Given the description of an element on the screen output the (x, y) to click on. 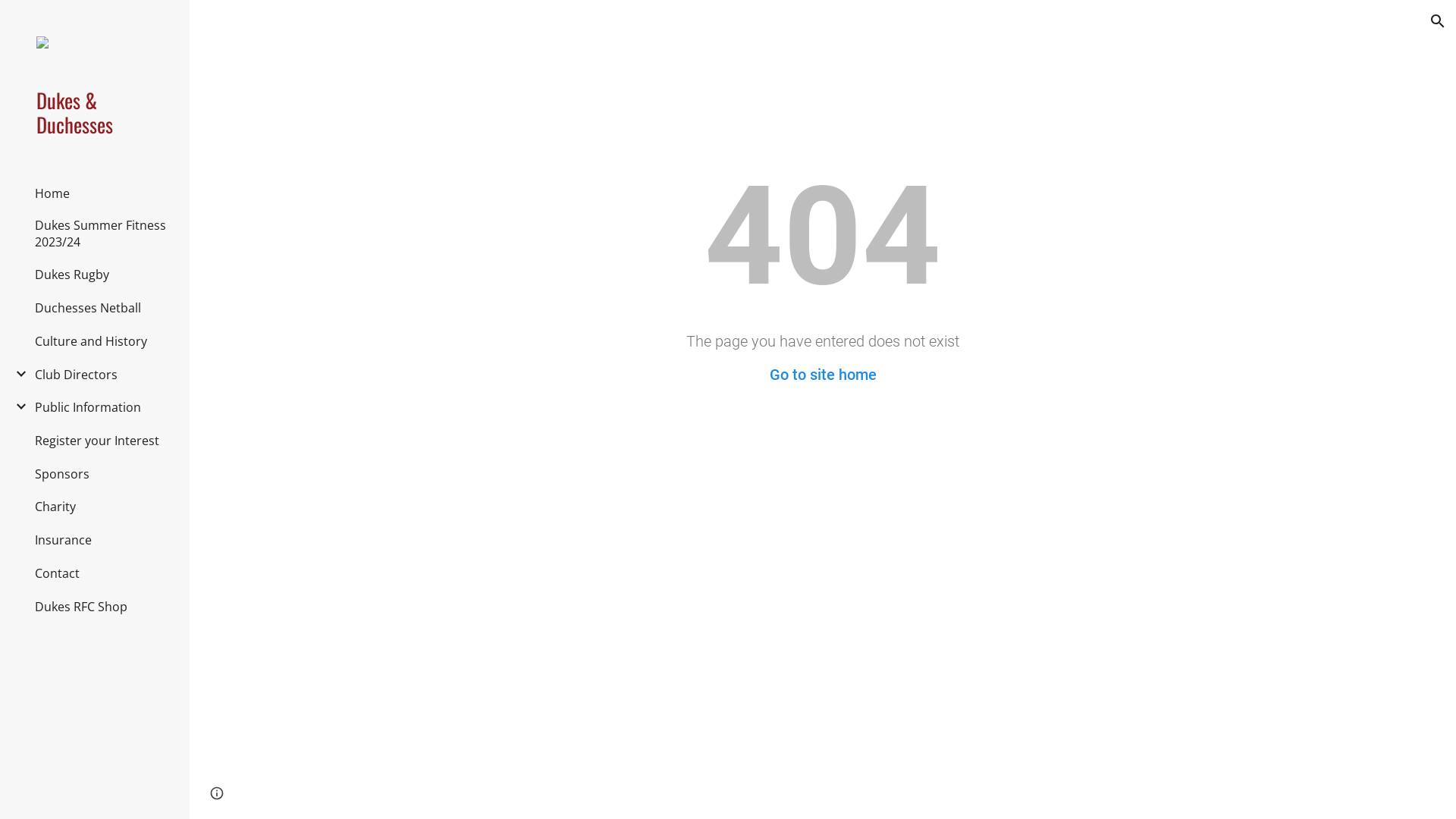
Expand/Collapse Element type: hover (16, 406)
Home Element type: text (52, 193)
Duchesses Netball Element type: text (87, 307)
Dukes & Duchesses Element type: text (100, 111)
Expand/Collapse Element type: hover (16, 373)
Charity Element type: text (55, 506)
Sponsors Element type: text (62, 473)
Culture and History Element type: text (90, 340)
Dukes RFC Shop Element type: text (80, 606)
Public Information Element type: text (87, 406)
Club Directors Element type: text (76, 374)
Go to site home Element type: text (821, 374)
Register your Interest Element type: text (96, 440)
Insurance Element type: text (63, 539)
Contact Element type: text (57, 572)
Dukes Rugby Element type: text (71, 274)
Dukes Summer Fitness 2023/24 Element type: text (101, 233)
